Given the description of an element on the screen output the (x, y) to click on. 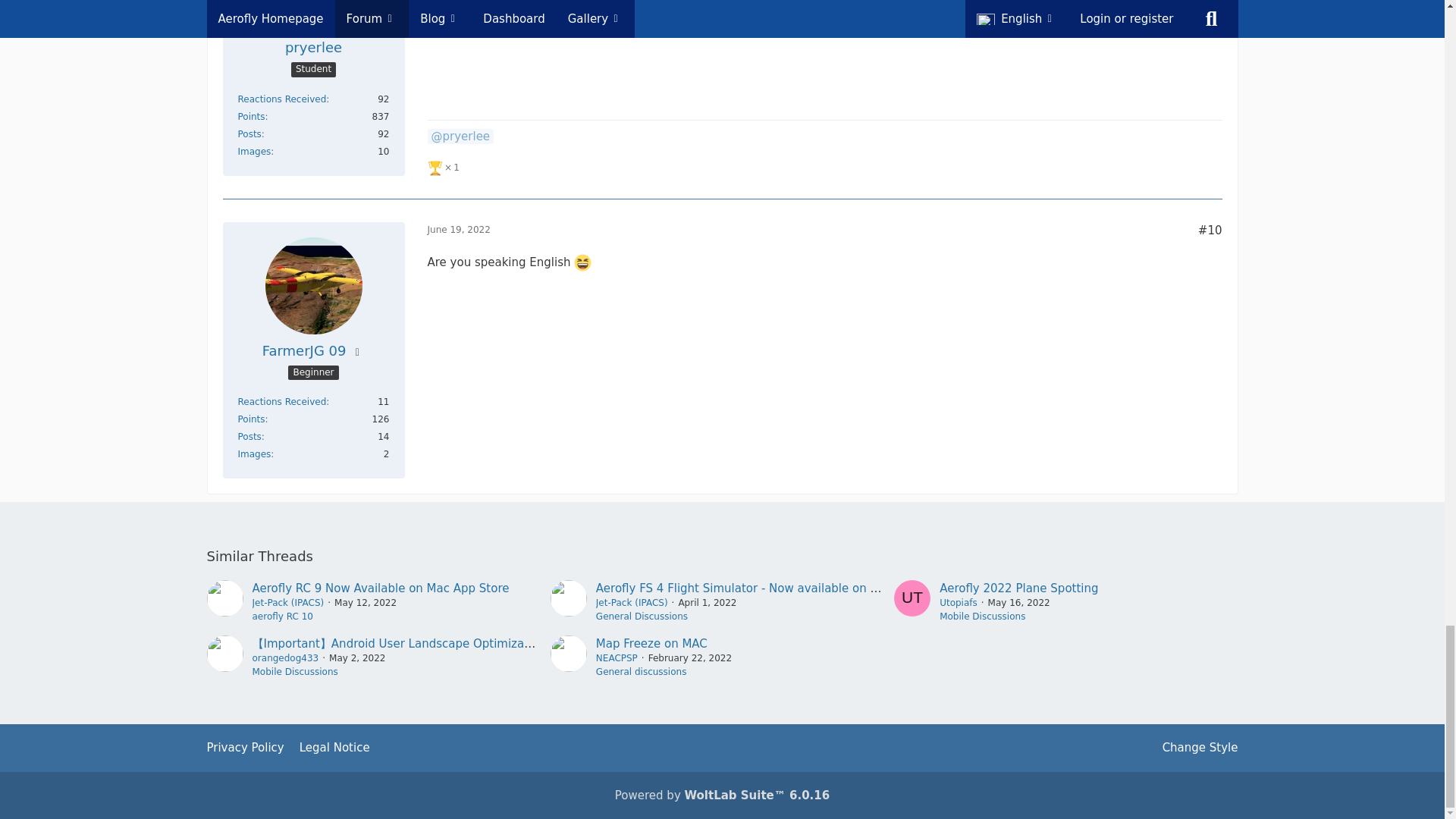
biggrin (582, 262)
